Given the description of an element on the screen output the (x, y) to click on. 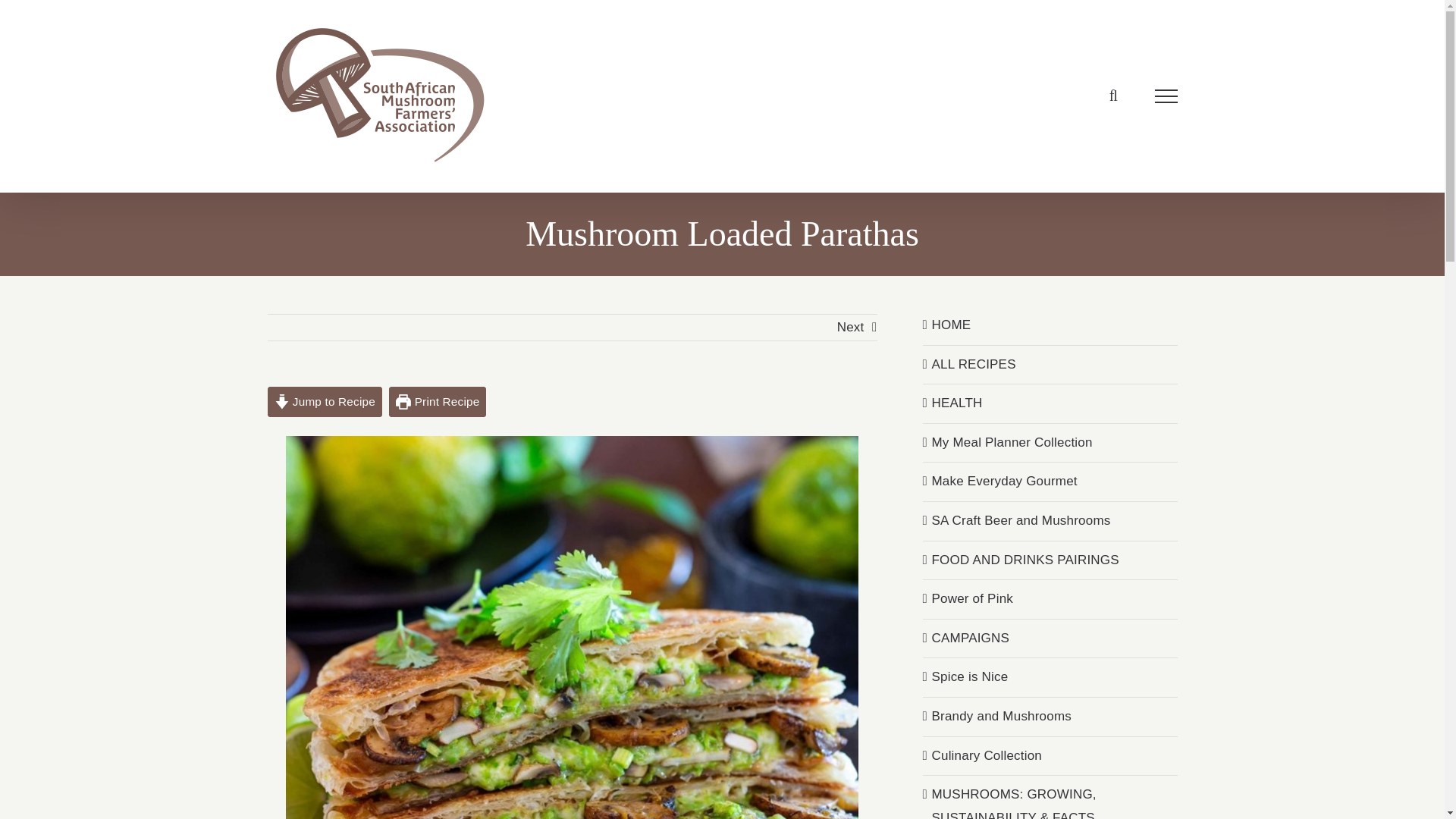
Next (850, 327)
ALL RECIPES (972, 364)
HEALTH (956, 402)
Make Everyday Gourmet (1004, 481)
Jump to Recipe (323, 401)
Print Recipe (437, 401)
My Meal Planner Collection (1011, 441)
HOME (951, 324)
